Given the description of an element on the screen output the (x, y) to click on. 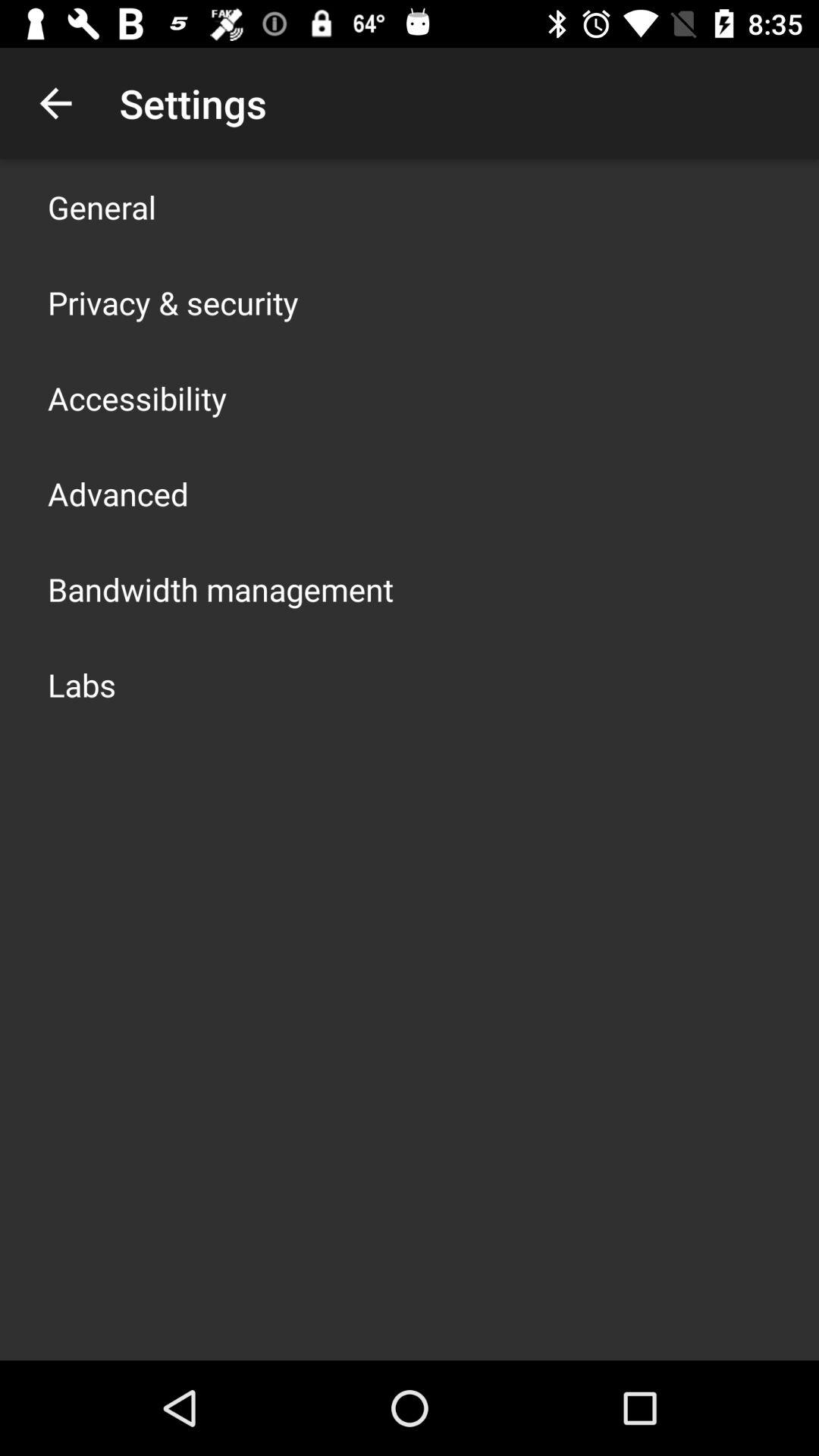
turn on the icon above the labs icon (220, 588)
